Given the description of an element on the screen output the (x, y) to click on. 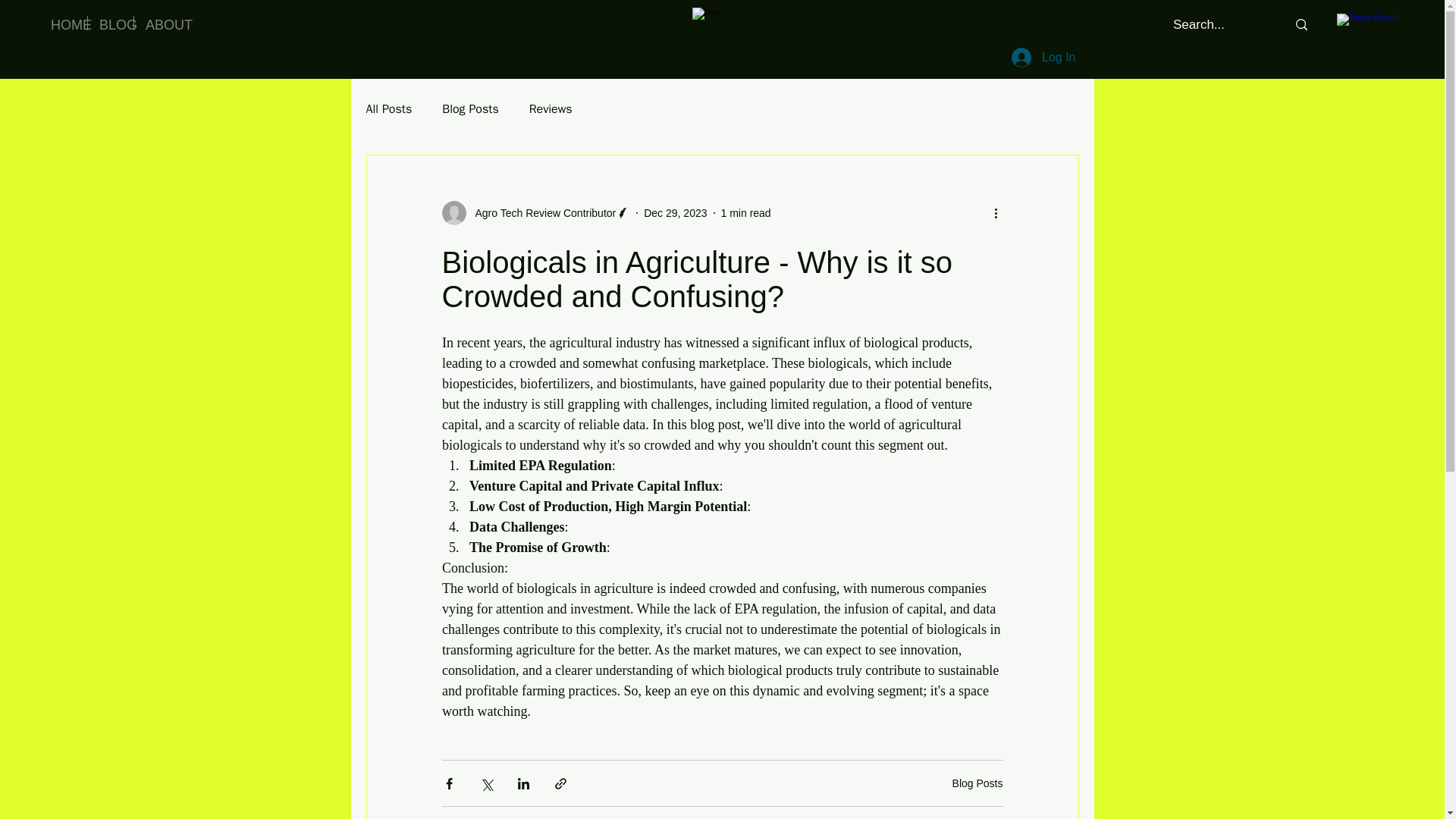
Blog Posts (977, 782)
HOME (63, 22)
Agro Tech Review Contributor (540, 212)
Blog Posts (469, 109)
BLOG (110, 22)
1 min read (745, 212)
Reviews (550, 109)
All Posts (388, 109)
Dec 29, 2023 (674, 212)
Log In (1043, 57)
ABOUT (159, 22)
Agro Tech Review Contributor (535, 212)
